Given the description of an element on the screen output the (x, y) to click on. 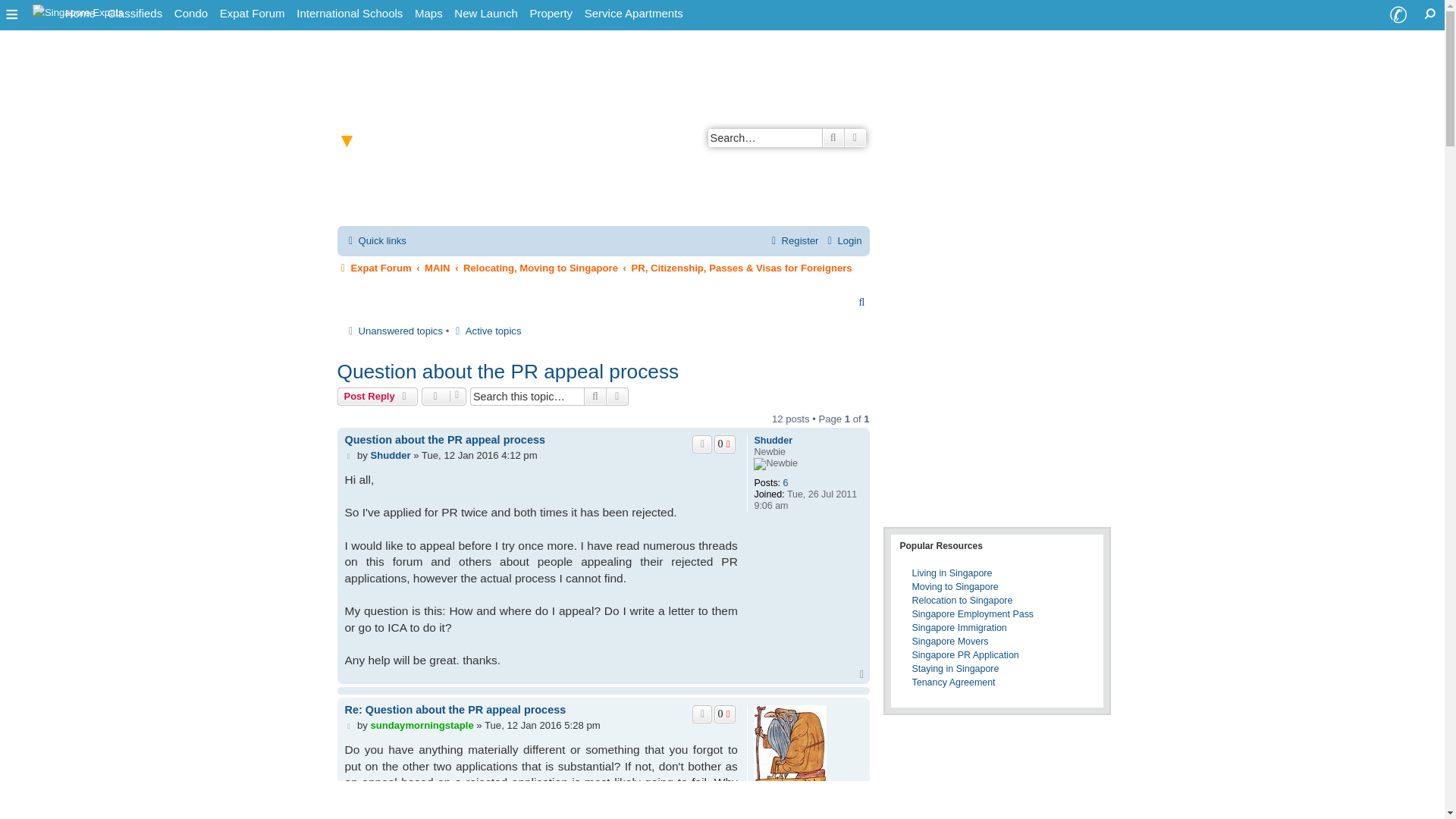
Property (550, 13)
Singapore Condo Directory (191, 13)
Home (80, 13)
Condo (191, 13)
Singapore Street Maps (428, 13)
Classifieds (135, 13)
New Launch (485, 13)
Singapore Expats Forum (252, 13)
Expat Forum (252, 13)
Singapore Property (550, 13)
